Given the description of an element on the screen output the (x, y) to click on. 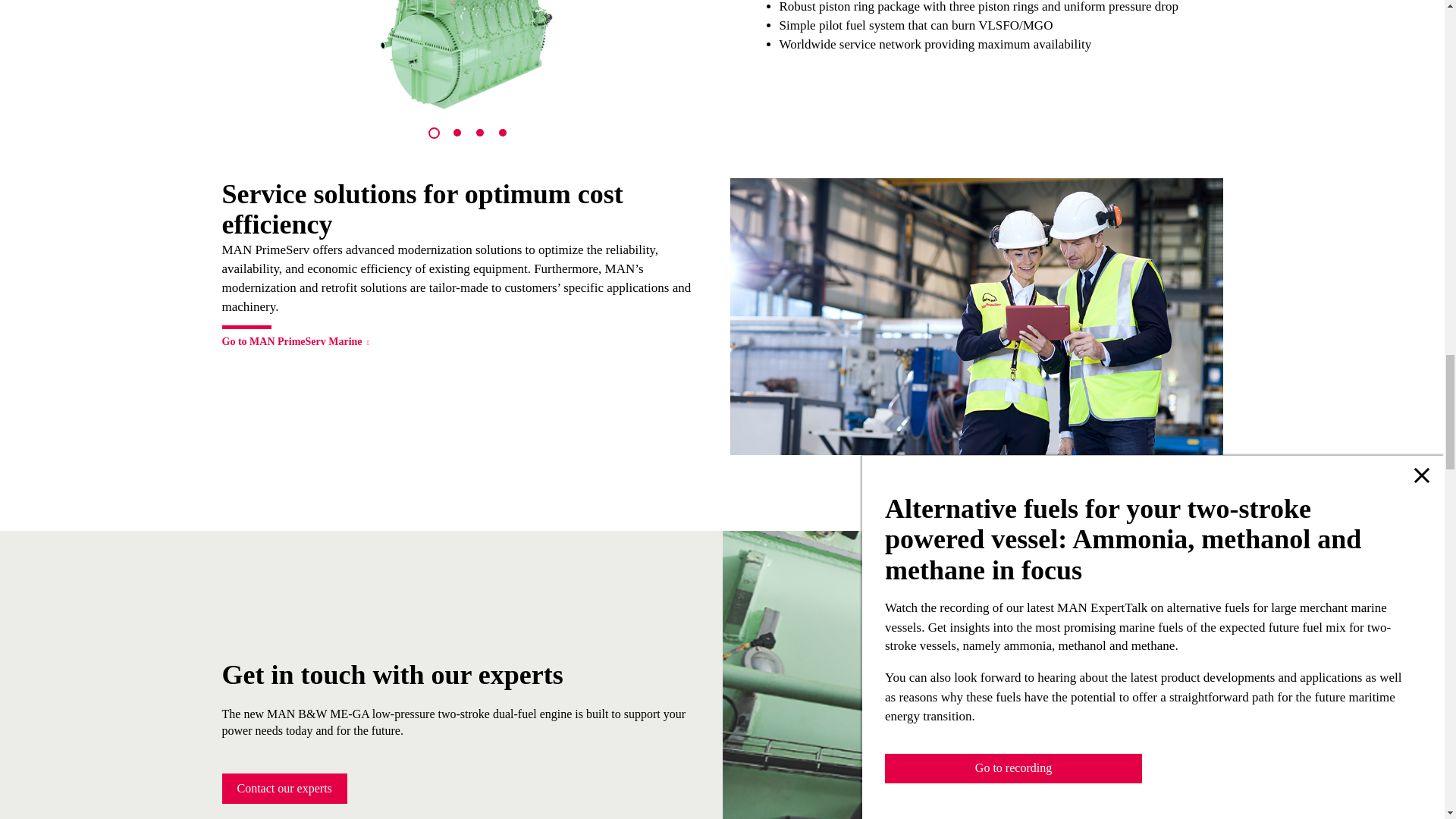
01-5G70ME-GA-front-view (467, 56)
04-5G70ME-GA-inner-sectioncut (110, 56)
